Given the description of an element on the screen output the (x, y) to click on. 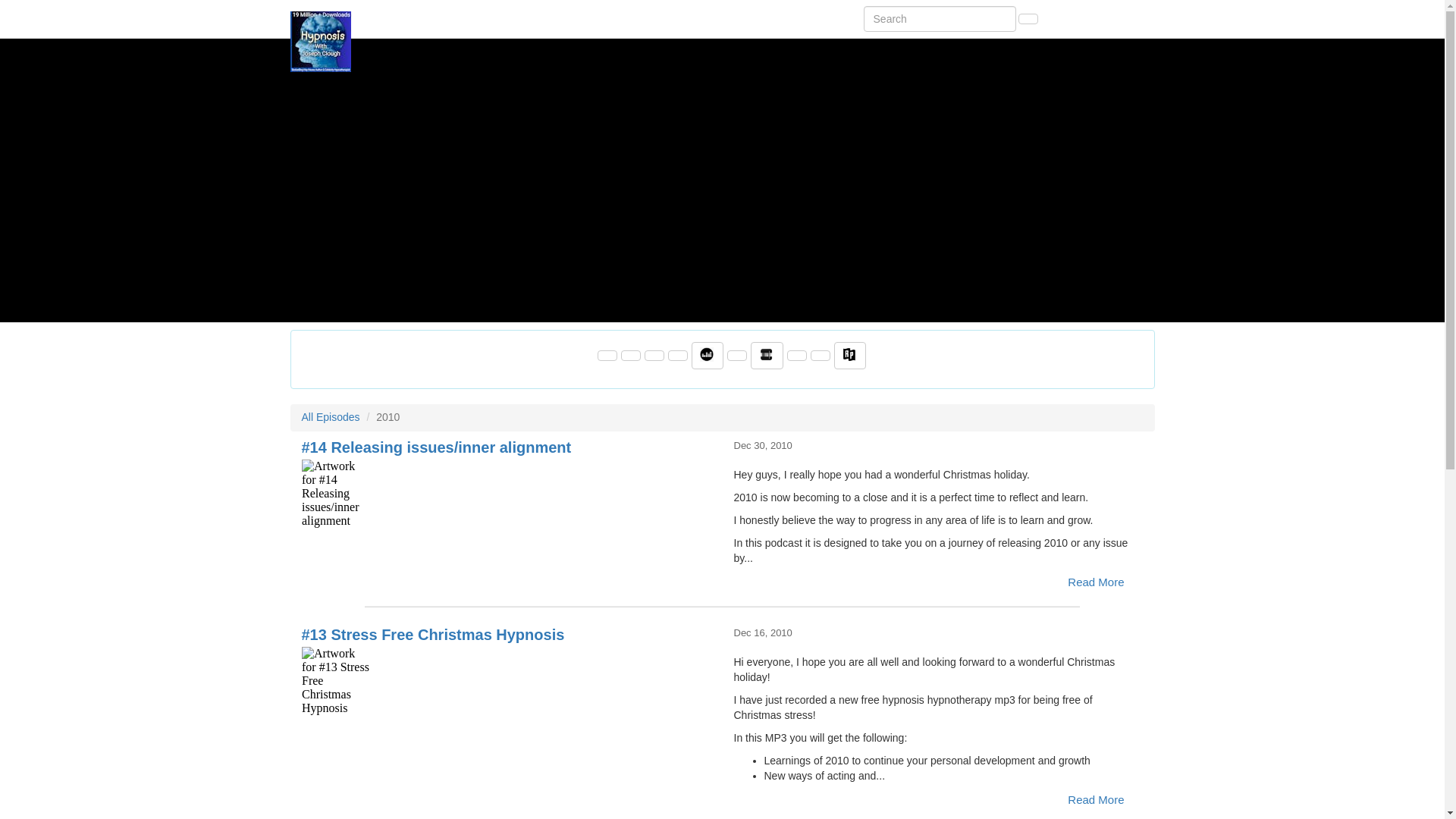
Episodes (1127, 18)
Listen on Radio Public (850, 355)
Go To YouTube Channel (819, 355)
Subscribe to RSS Feed (677, 355)
Home Page (320, 18)
View Our LinkedIn Page (654, 355)
Listen on Deezer (707, 355)
Listen on Apple Podcasts (736, 355)
Visit Us on Facebook (606, 355)
About (1063, 18)
